Given the description of an element on the screen output the (x, y) to click on. 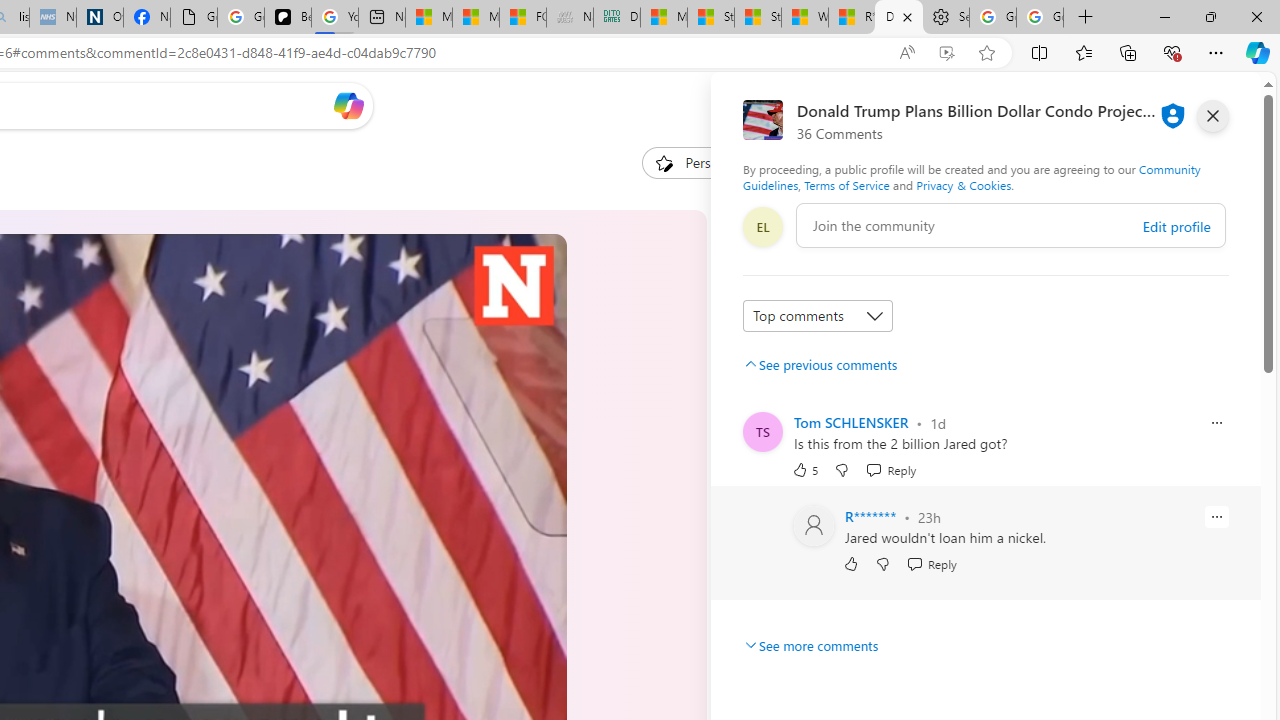
See more comments (810, 645)
FOX News - MSN (523, 17)
R******* (870, 516)
Profile Picture (813, 525)
The Wall Street Journal (770, 645)
Community Guidelines (971, 176)
